Given the description of an element on the screen output the (x, y) to click on. 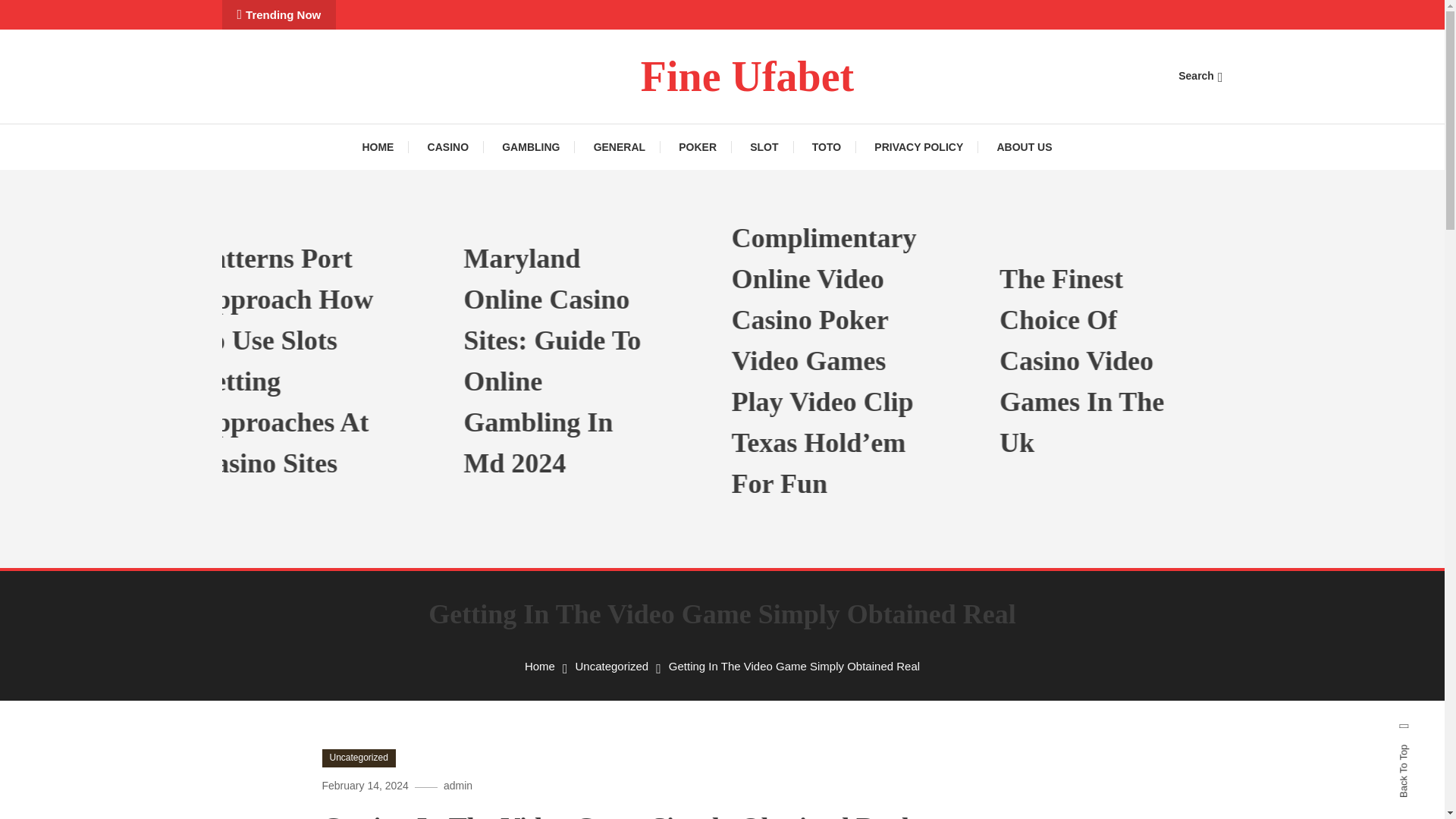
ABOUT US (1024, 146)
CASINO (447, 146)
GAMBLING (530, 146)
TOTO (826, 146)
Search (1200, 75)
Search (768, 434)
The Finest Choice Of Casino Video Games In The Uk (1180, 360)
POKER (697, 146)
Fine Ufabet (747, 76)
GENERAL (619, 146)
